Given the description of an element on the screen output the (x, y) to click on. 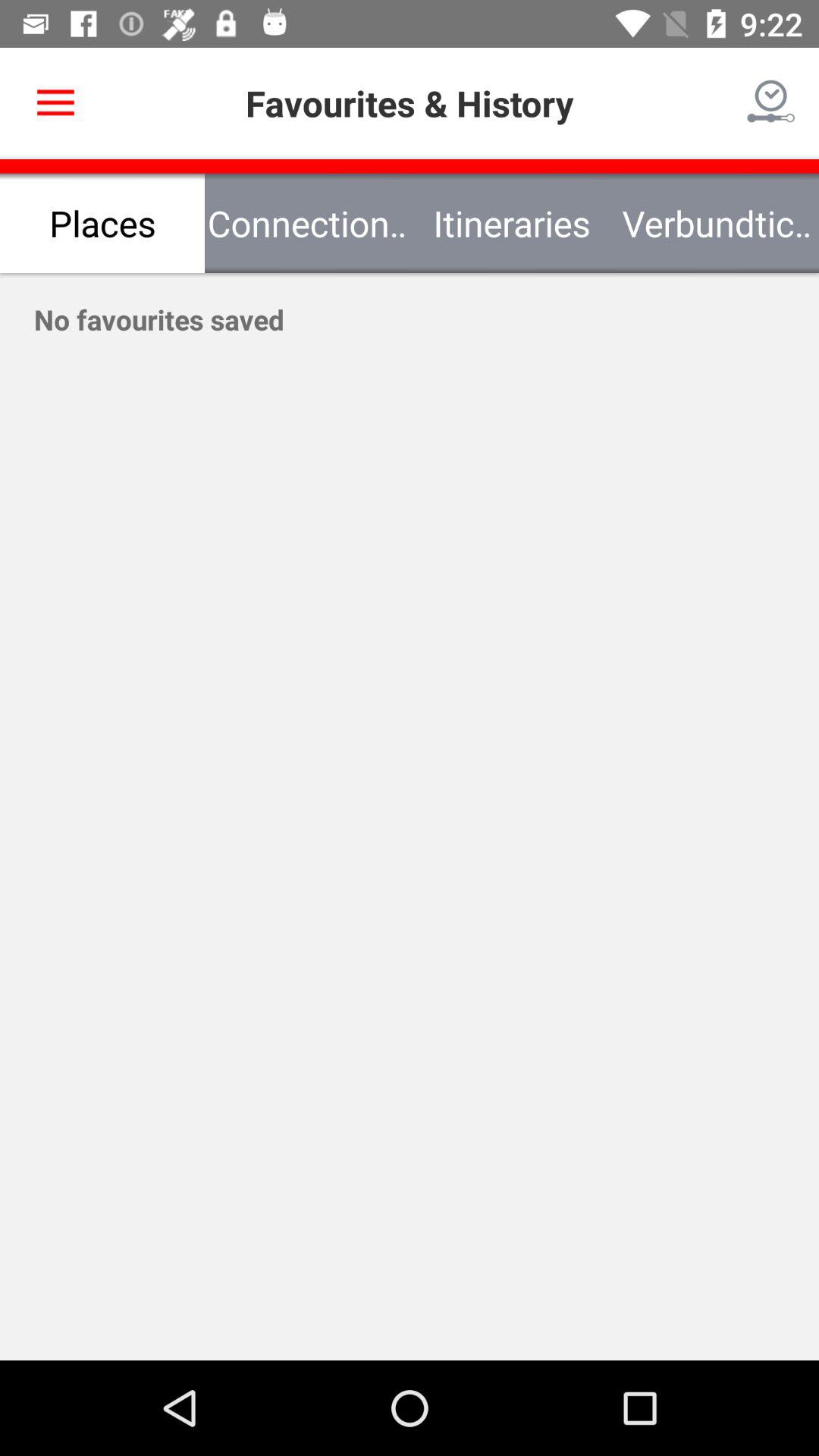
tap the icon to the left of the verbundtickets (511, 223)
